Given the description of an element on the screen output the (x, y) to click on. 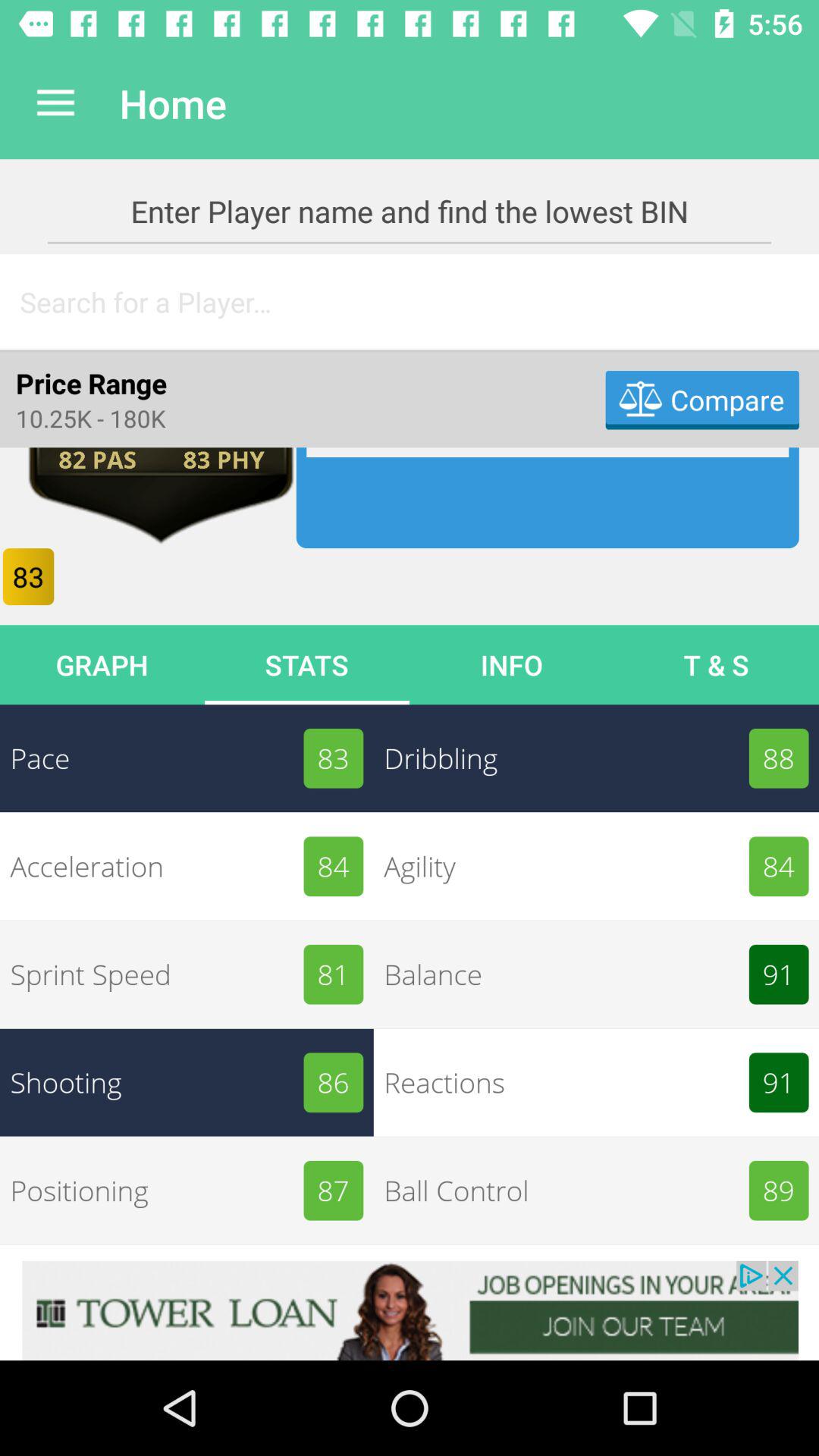
add banner (409, 1310)
